Given the description of an element on the screen output the (x, y) to click on. 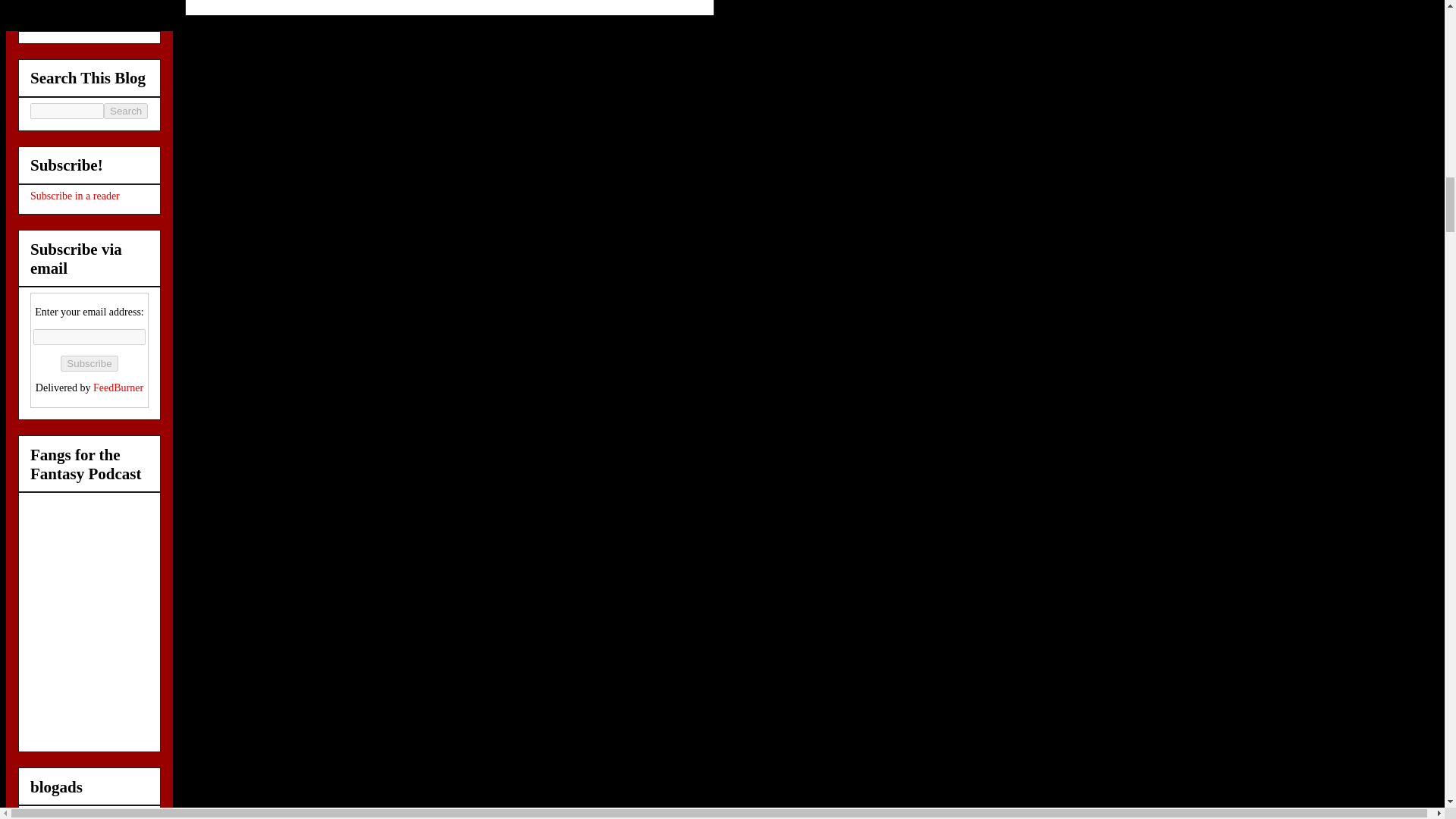
search (125, 110)
search (66, 110)
Newer Post (229, 1)
Search (125, 110)
Search (125, 110)
Older Post (296, 1)
Subscribe to my feed (74, 195)
Subscribe (89, 363)
